Given the description of an element on the screen output the (x, y) to click on. 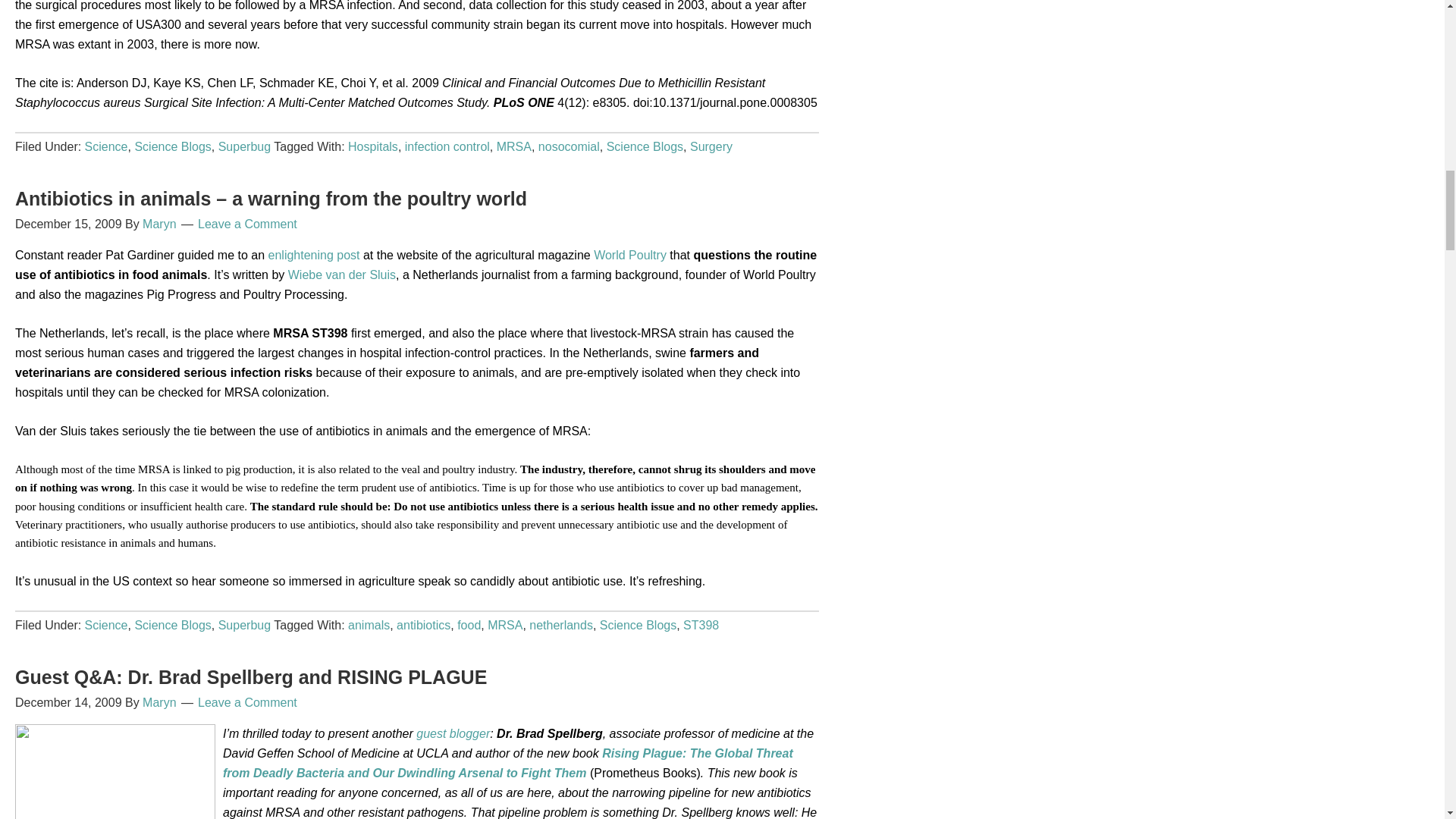
Superbug (244, 146)
Hospitals (372, 146)
Science Blogs (172, 146)
Science (106, 146)
